Given the description of an element on the screen output the (x, y) to click on. 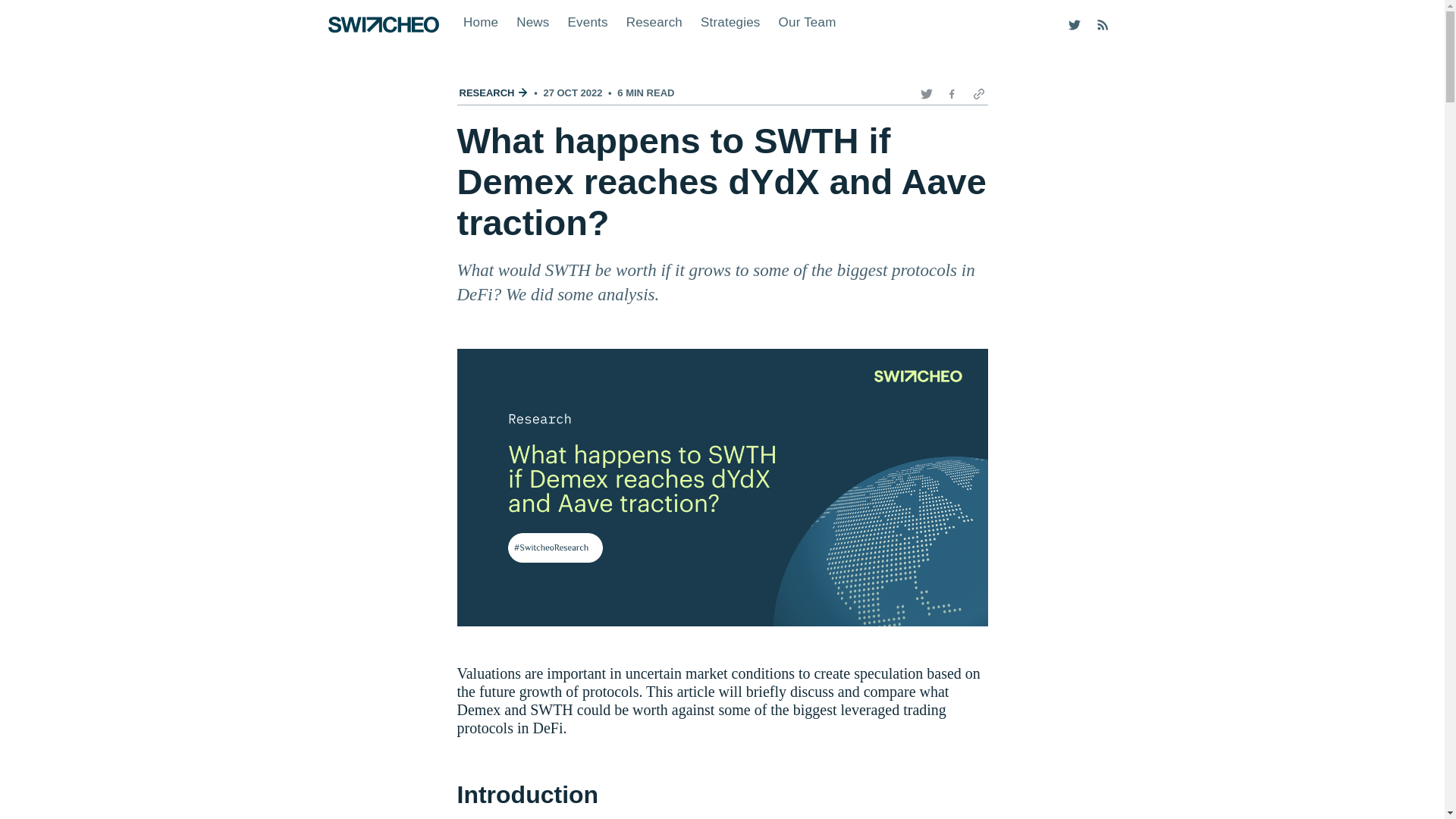
Strategies (730, 21)
Facebook (949, 92)
Home (480, 21)
Twitter (925, 92)
Our Team (807, 21)
Events (586, 21)
RESEARCH (494, 92)
News (531, 21)
Research (654, 21)
Copy Link (974, 92)
